Given the description of an element on the screen output the (x, y) to click on. 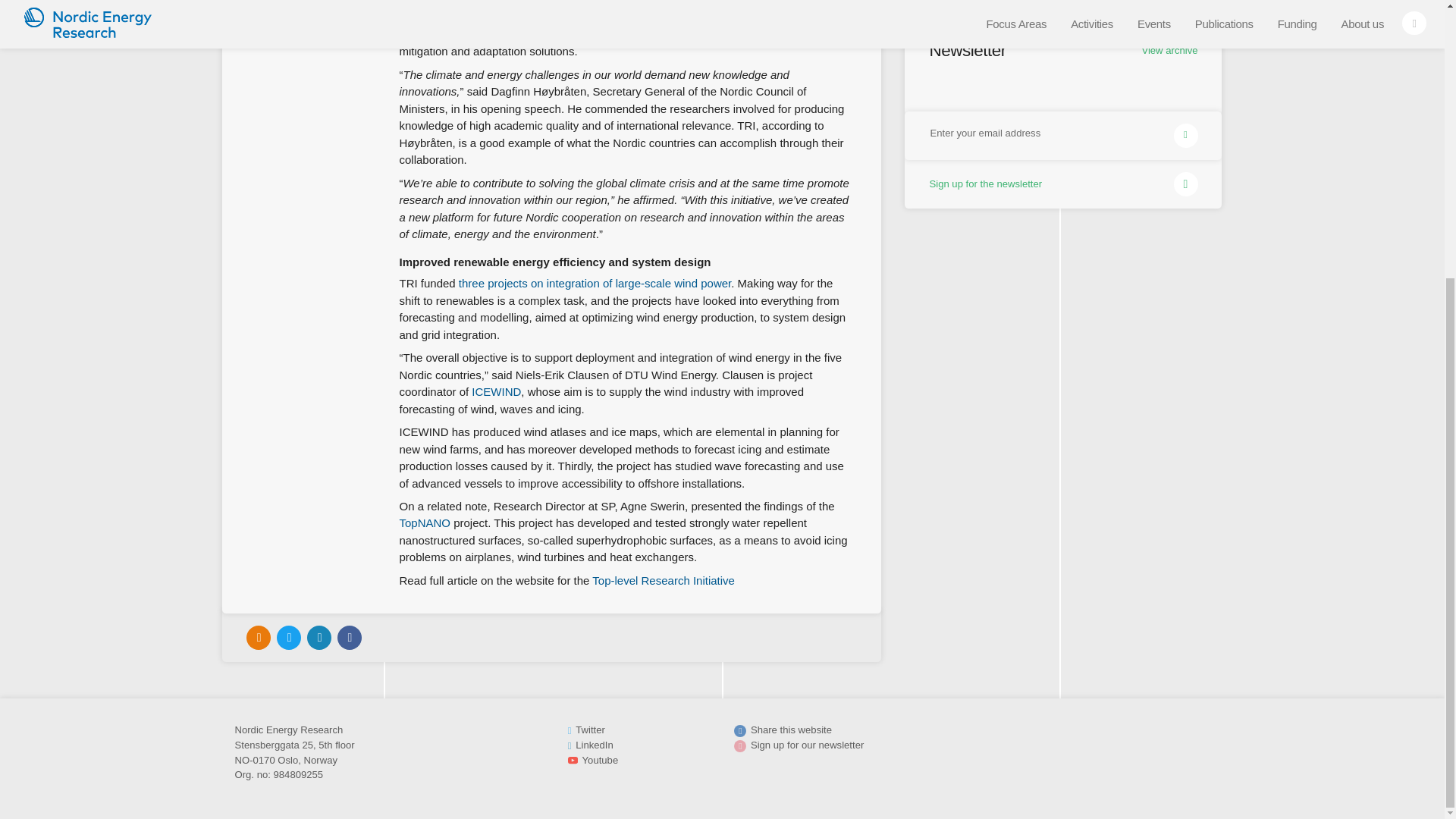
Youtube (600, 759)
Organisation number (250, 774)
three projects on integration of large-scale wind power (594, 282)
View archive (1168, 62)
ICEWIND (496, 391)
Twitter (590, 729)
Top-level Research Initiative (663, 580)
Share this website (791, 729)
LinkedIn (593, 745)
Sign up for the newsletter (1062, 181)
Sign up for our newsletter (807, 745)
TopNANO (423, 522)
